Given the description of an element on the screen output the (x, y) to click on. 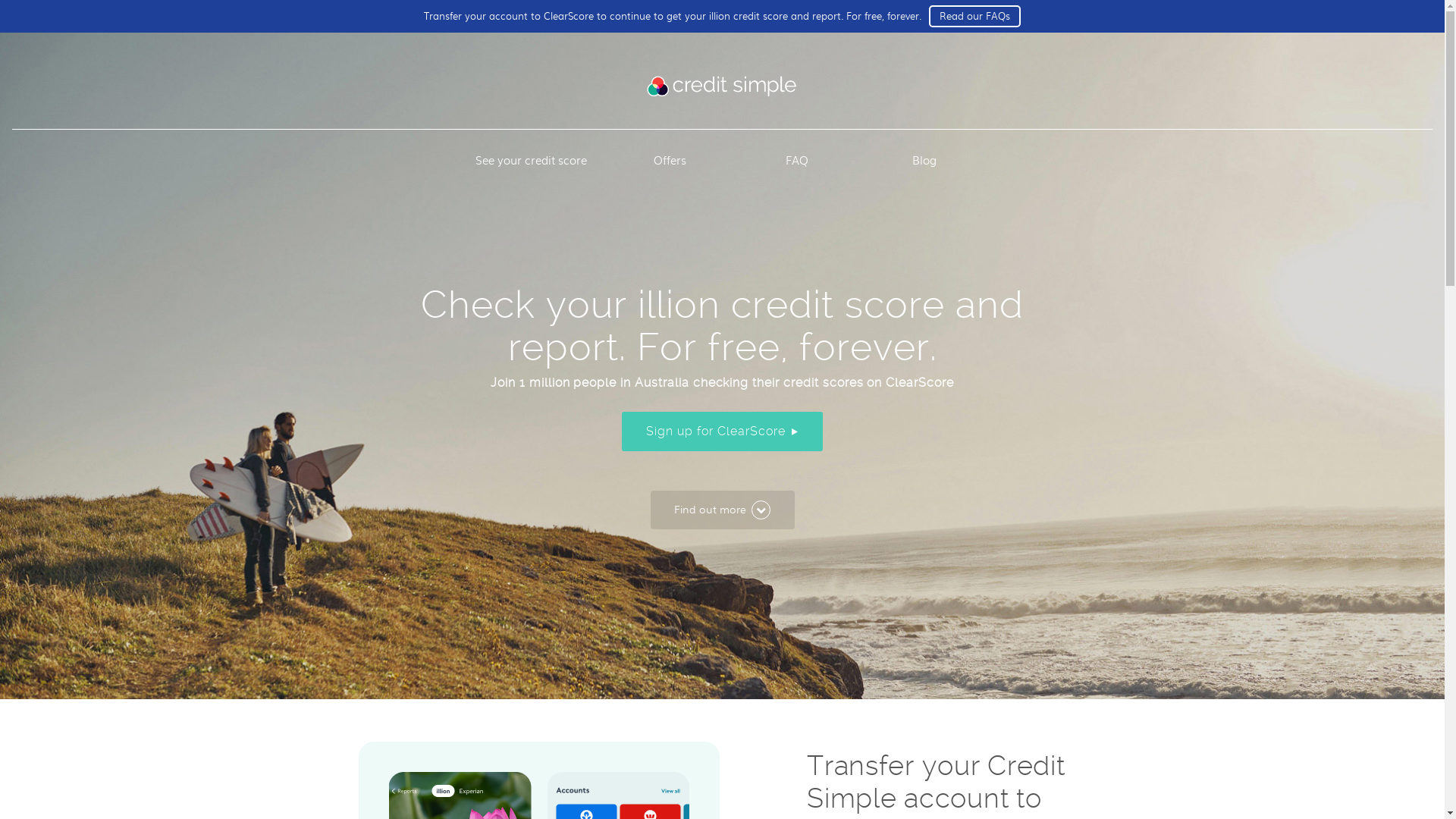
Offers Element type: text (669, 159)
FAQ Element type: text (796, 159)
Blog Element type: text (924, 159)
Find out more Element type: text (722, 509)
Sign up for ClearScore Element type: text (721, 431)
See your credit score Element type: text (531, 159)
Read our FAQs Element type: text (974, 16)
